Given the description of an element on the screen output the (x, y) to click on. 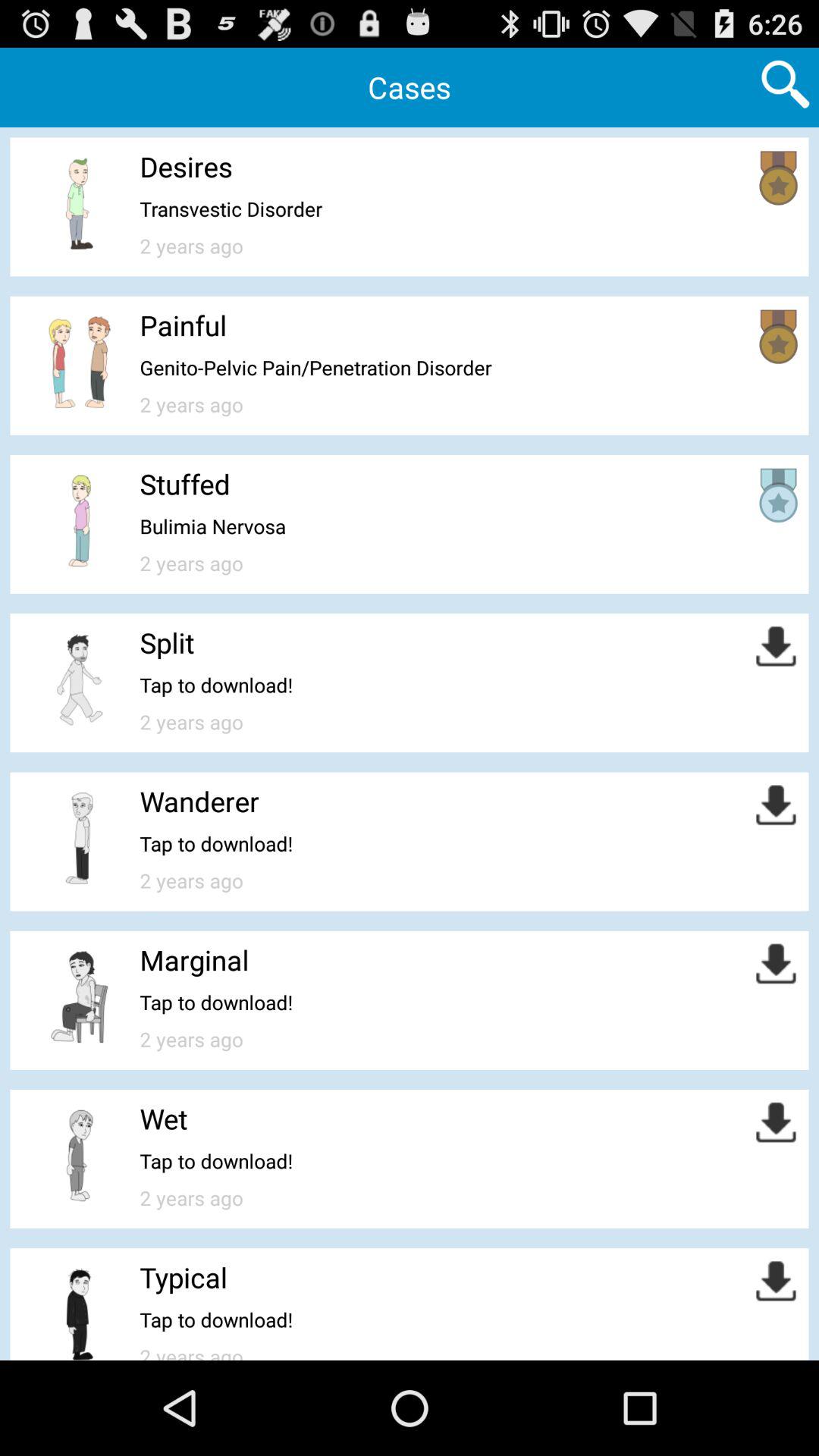
press icon above 2 years ago icon (230, 208)
